Given the description of an element on the screen output the (x, y) to click on. 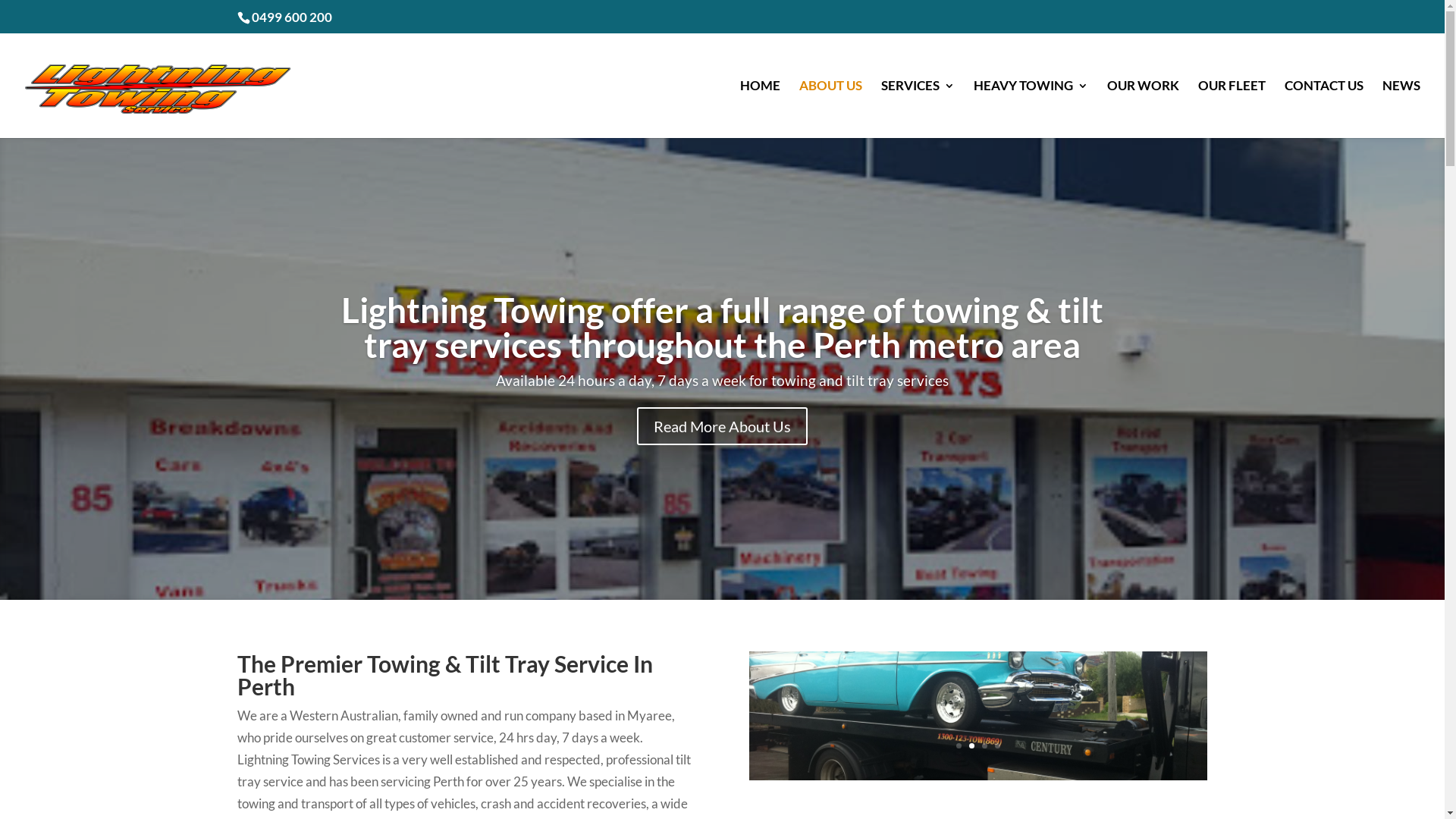
2 Element type: text (971, 745)
3 Element type: text (984, 745)
1 Element type: text (958, 745)
HEAVY TOWING Element type: text (1030, 109)
NEWS Element type: text (1401, 109)
OUR FLEET Element type: text (1231, 109)
OUR WORK Element type: text (1143, 109)
4 Element type: text (997, 745)
CONTACT US Element type: text (1323, 109)
SERVICES Element type: text (917, 109)
Read More About Us Element type: text (722, 426)
HOME Element type: text (760, 109)
ABOUT US Element type: text (830, 109)
